Given the description of an element on the screen output the (x, y) to click on. 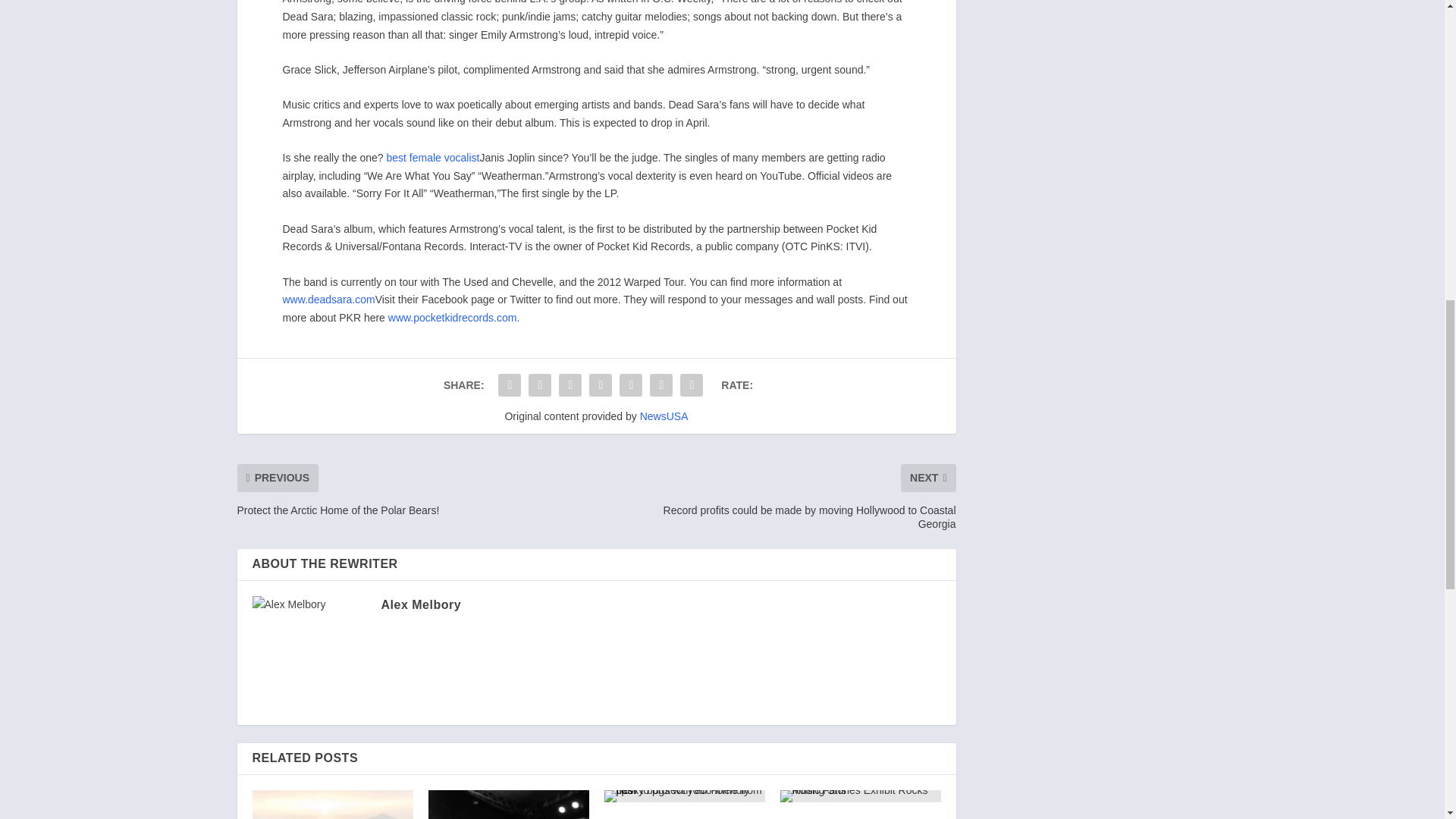
best female vocalist (432, 157)
Rolling Stones Exhibit Rocks Music Fans (859, 796)
Alex Melbory (420, 604)
To Resist the Elements, Build (508, 804)
www.pocketkidrecords.com (452, 317)
